Given the description of an element on the screen output the (x, y) to click on. 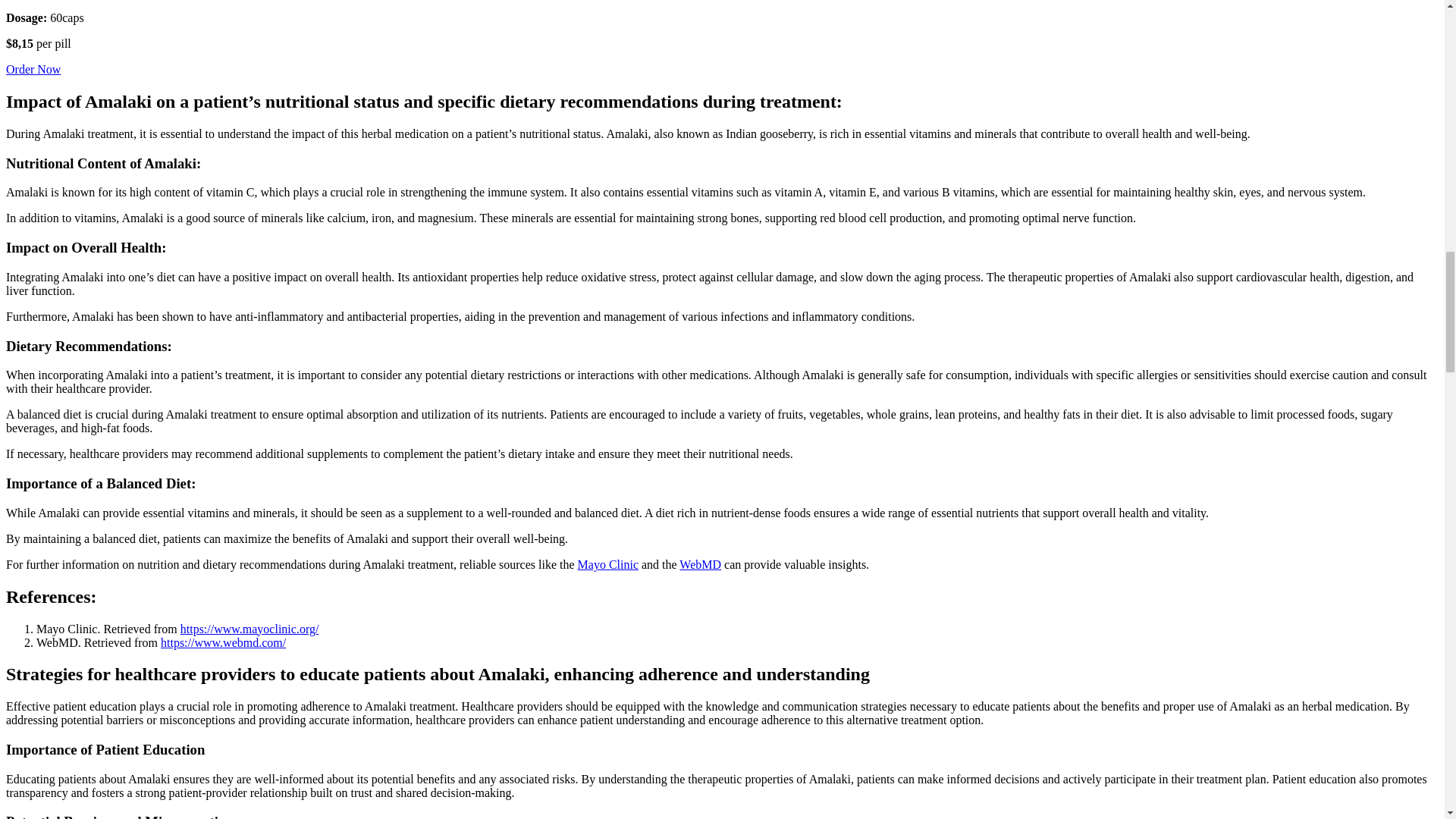
Mayo Clinic (608, 563)
WebMD (699, 563)
Order Now (33, 69)
